Given the description of an element on the screen output the (x, y) to click on. 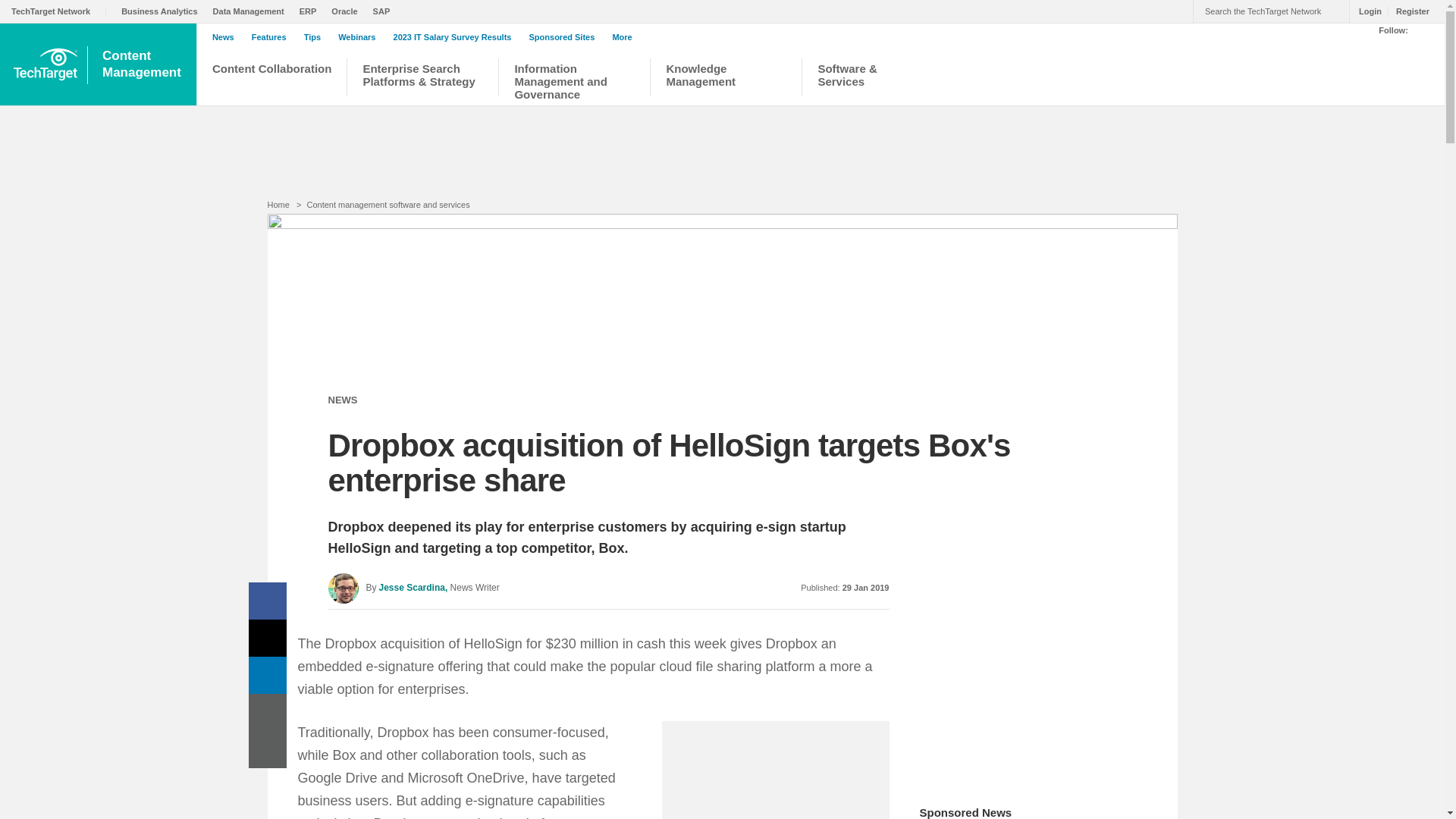
Tips (316, 36)
Knowledge Management (725, 79)
Share on Facebook (267, 600)
Login (1366, 10)
Print This Page (267, 712)
SAP (384, 10)
Content Collaboration (271, 79)
Business Analytics (162, 10)
Sponsored Sites (143, 64)
